Given the description of an element on the screen output the (x, y) to click on. 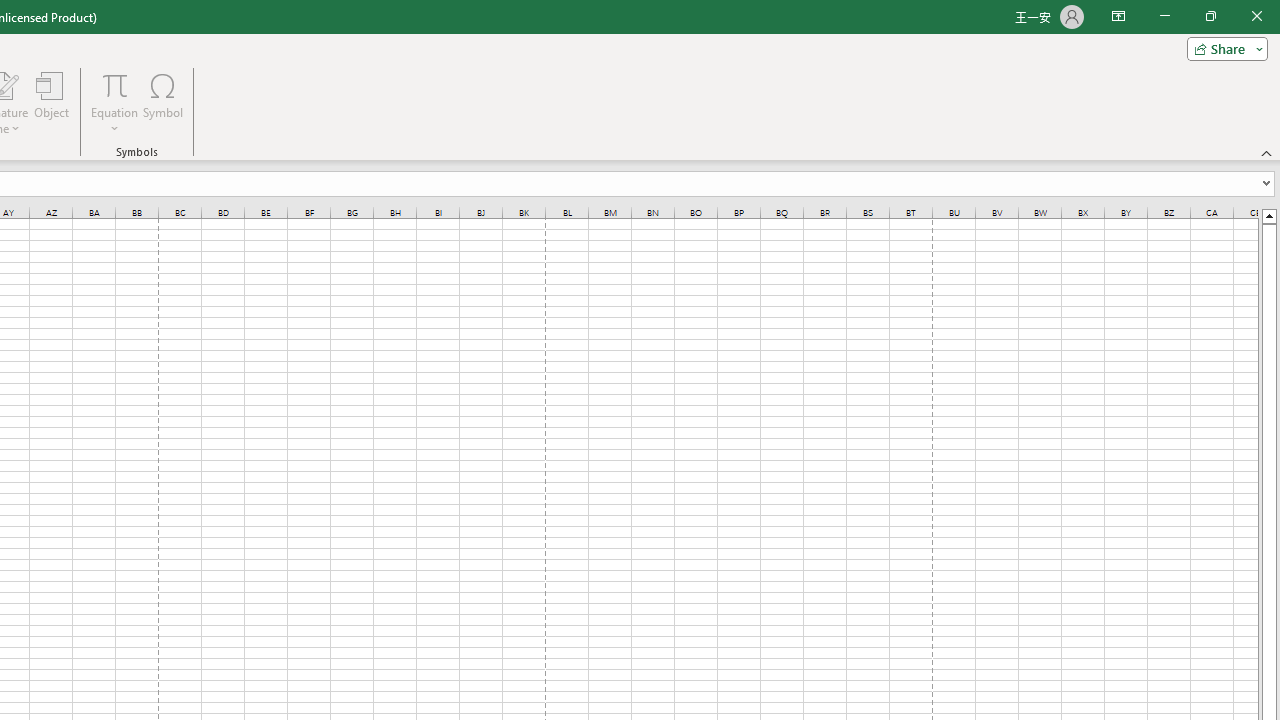
Object... (51, 102)
Equation (114, 84)
Symbol... (162, 102)
Equation (114, 102)
